Given the description of an element on the screen output the (x, y) to click on. 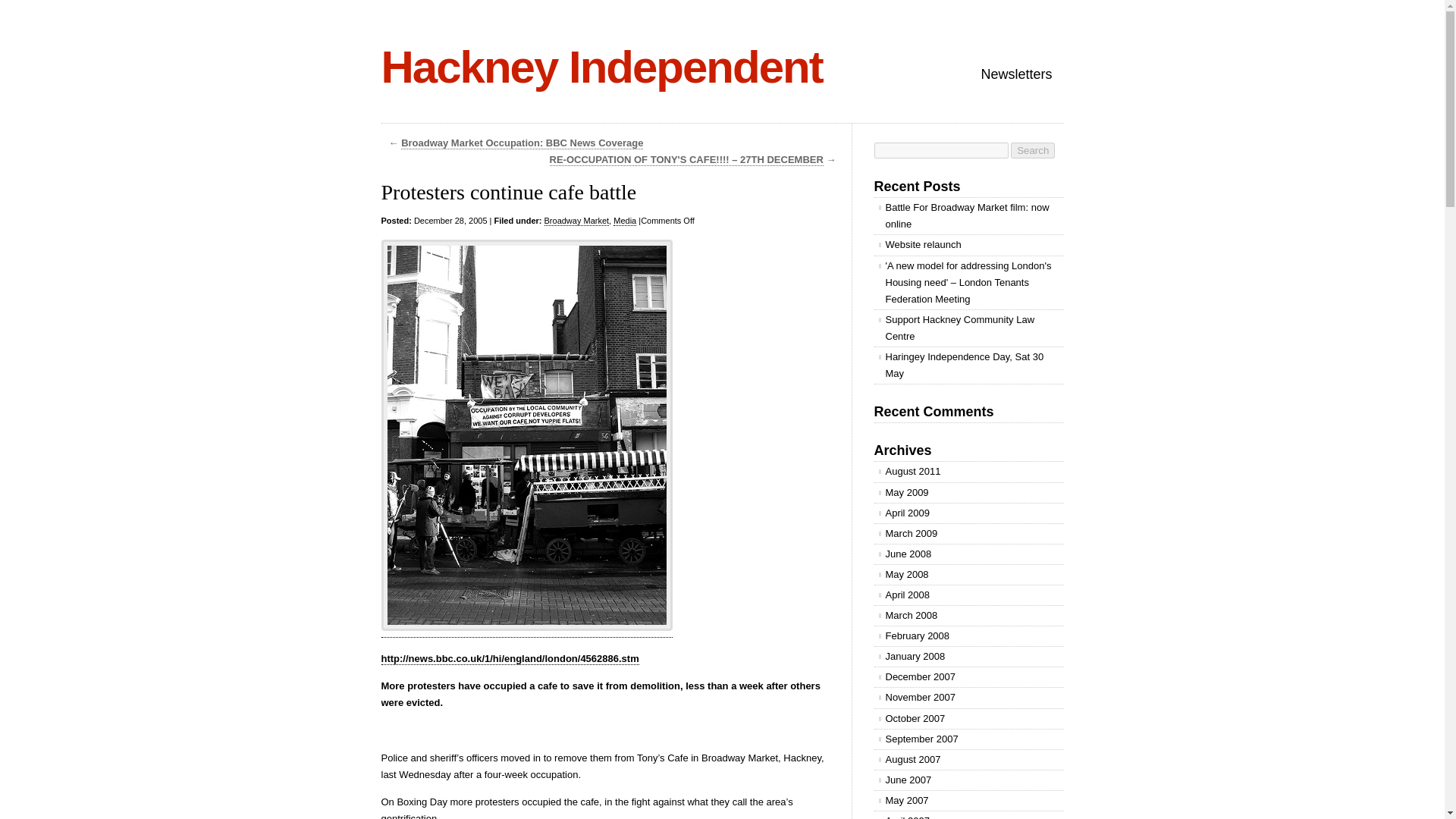
Search (1032, 150)
August 2007 (967, 759)
Broadway Market Occupation: BBC News Coverage (522, 143)
June 2008 (967, 554)
Hackney Independent (601, 66)
April 2009 (967, 513)
December 2007 (967, 677)
Broadway Market (577, 221)
Website relaunch (967, 244)
Search (1032, 150)
Media (624, 221)
Newsletters (1015, 74)
April 2008 (967, 595)
September 2007 (967, 739)
February 2008 (967, 636)
